Given the description of an element on the screen output the (x, y) to click on. 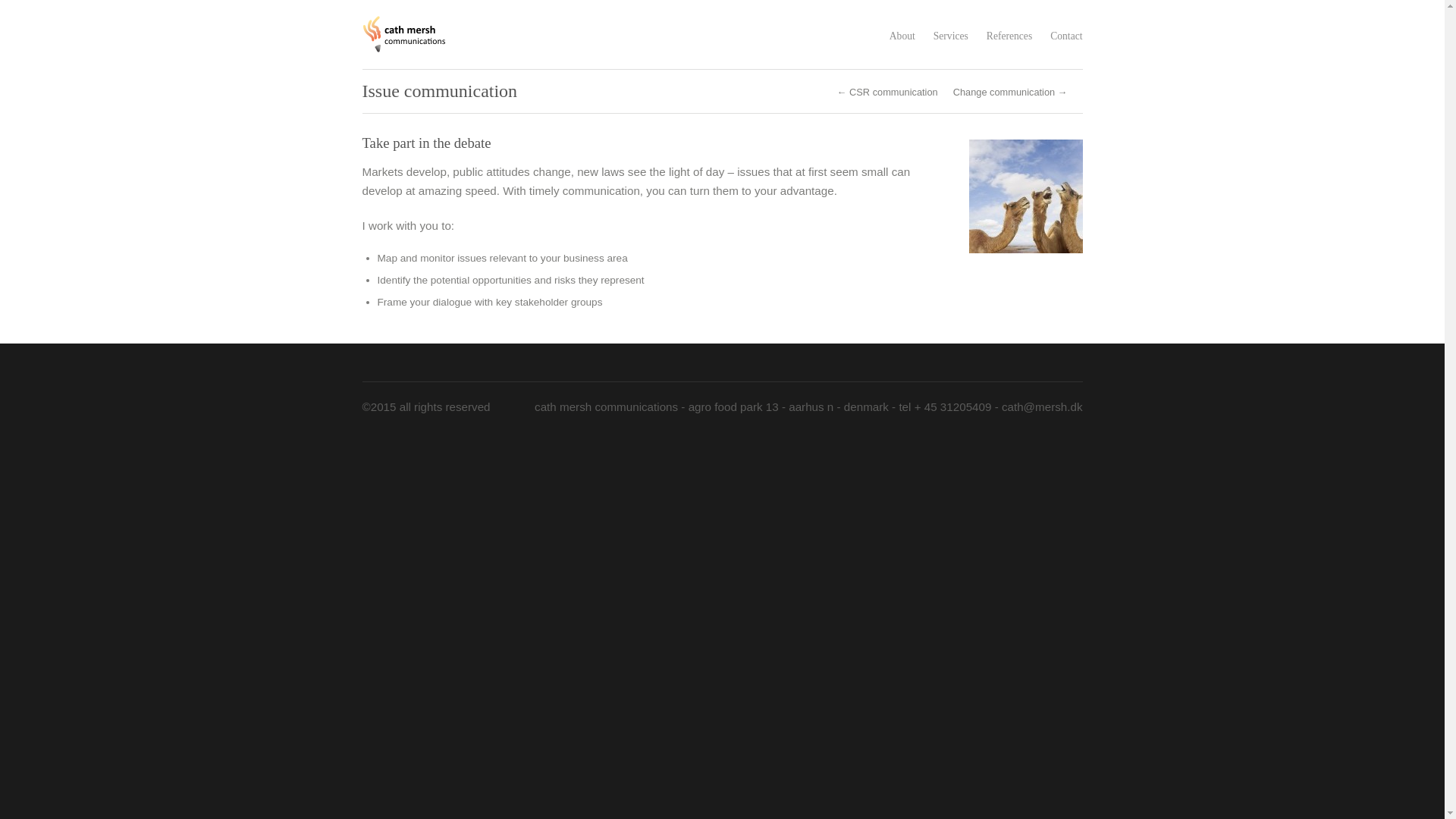
About (902, 35)
Contact (1065, 35)
References (1009, 35)
